Given the description of an element on the screen output the (x, y) to click on. 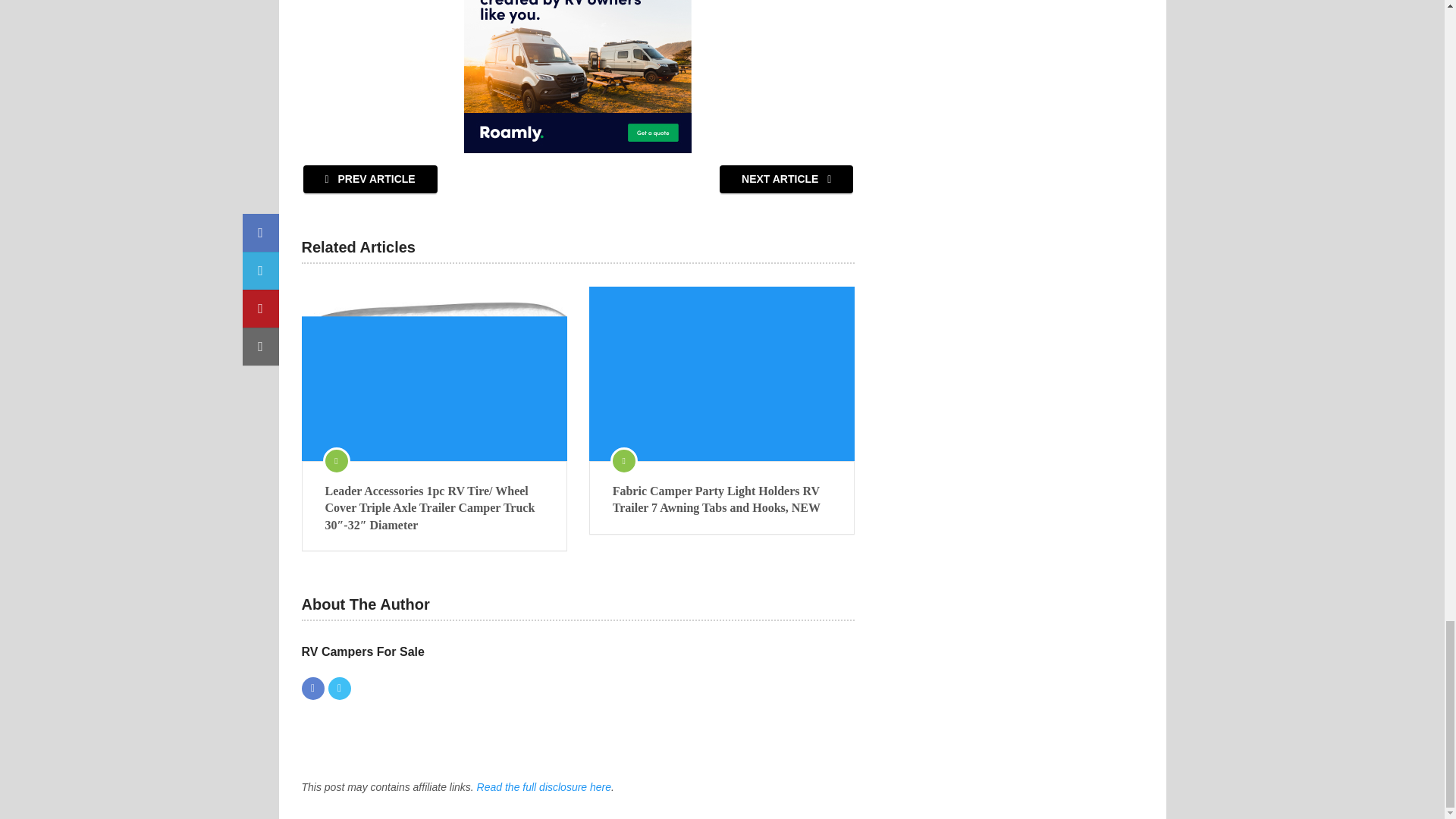
NEXT ARTICLE (786, 179)
PREV ARTICLE (370, 179)
